Given the description of an element on the screen output the (x, y) to click on. 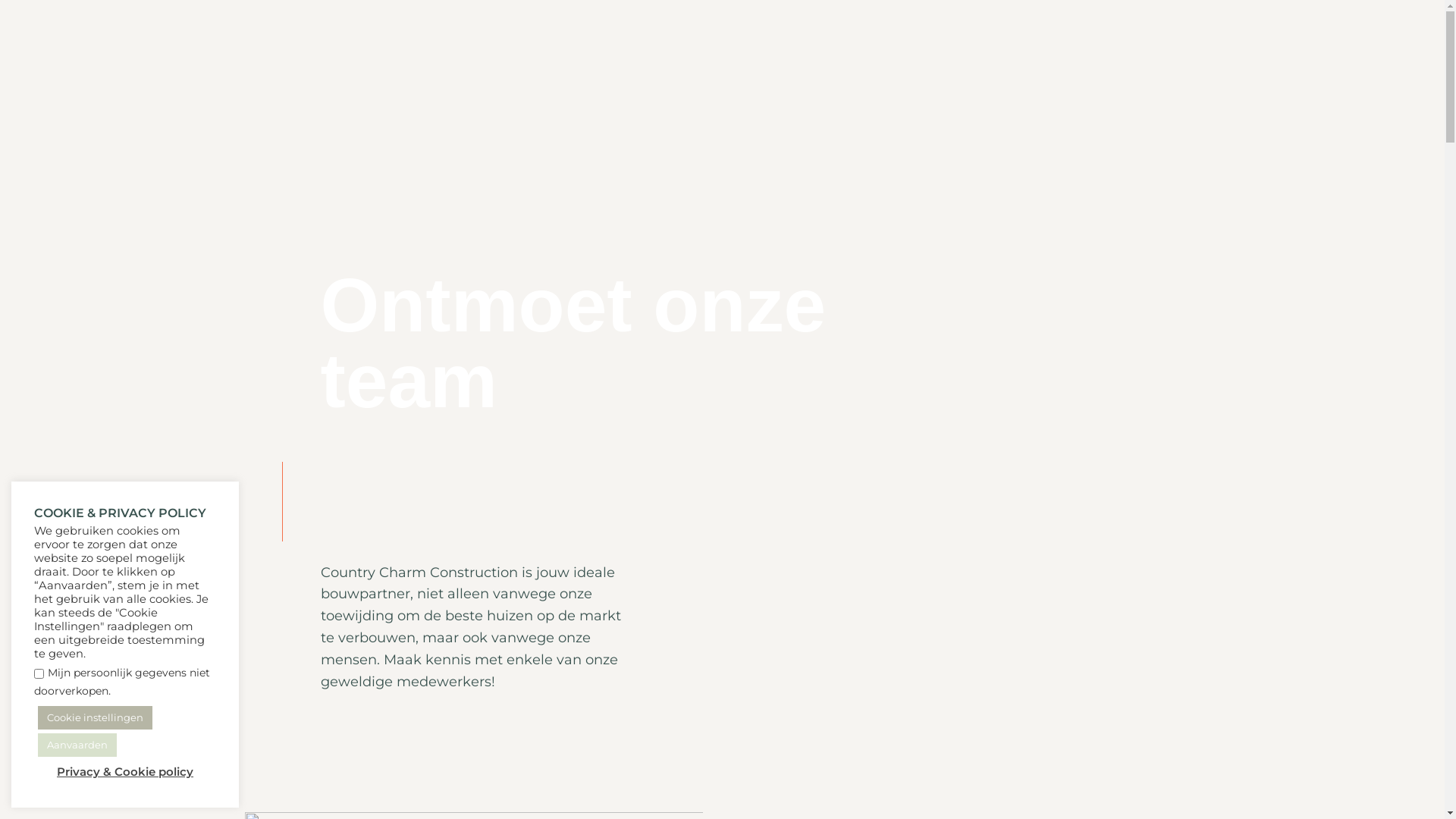
Aanvaarden Element type: text (76, 744)
Cookie instellingen Element type: text (94, 717)
Privacy & Cookie policy Element type: text (124, 771)
